Given the description of an element on the screen output the (x, y) to click on. 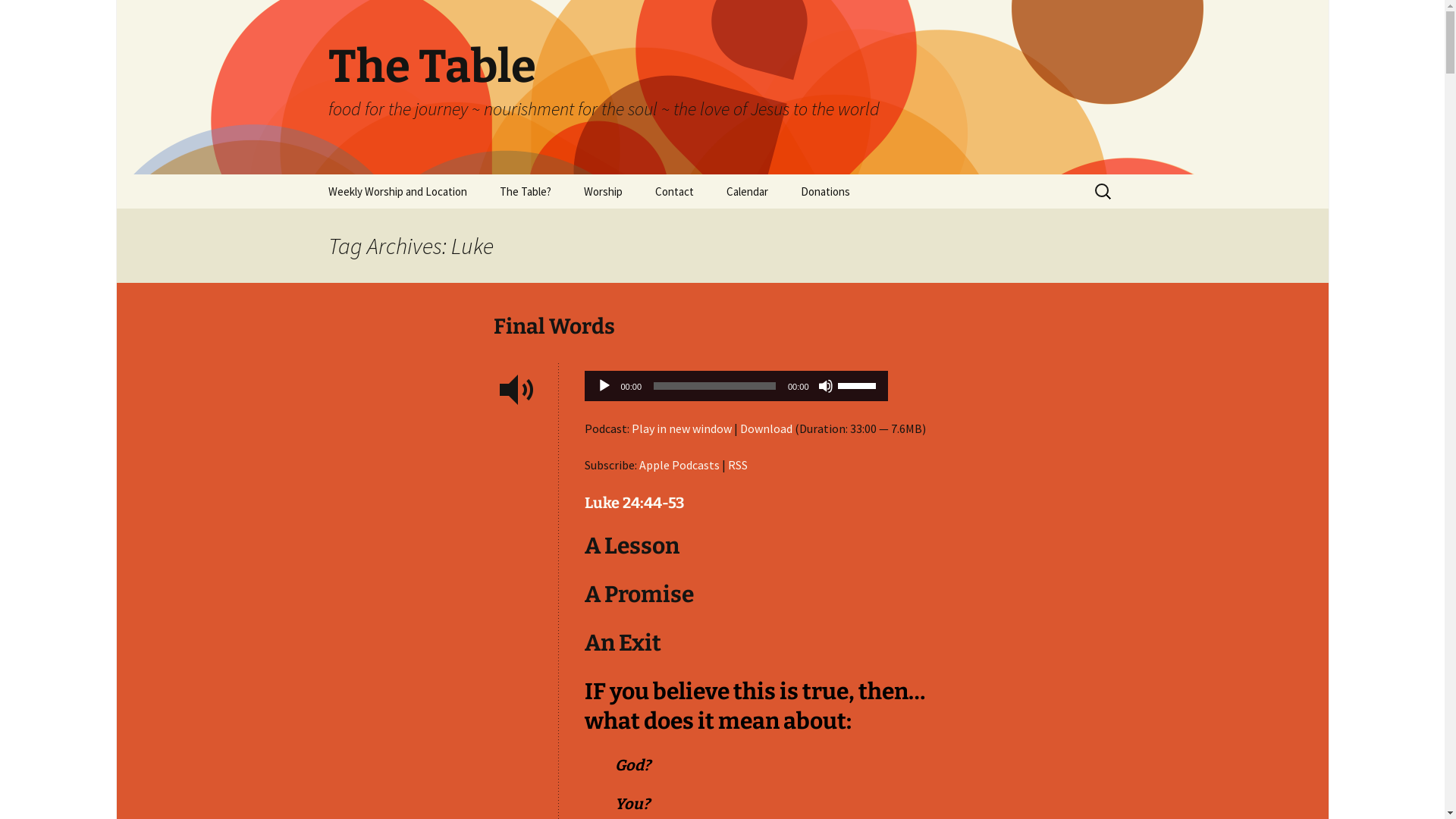
Sermons Element type: text (644, 225)
Donations Element type: text (825, 191)
RSS Element type: text (737, 464)
Apple Podcasts Element type: text (678, 464)
Worship Element type: text (602, 191)
Skip to content Element type: text (312, 173)
Search Element type: text (34, 15)
Play Element type: hover (603, 385)
Use Up/Down Arrow keys to increase or decrease volume. Element type: text (858, 384)
Final Words Element type: text (553, 325)
Pastor Greg Element type: text (715, 225)
Contact Element type: text (674, 191)
Weekly Worship and Location Element type: text (396, 191)
Mute Element type: hover (824, 385)
About Us Element type: text (559, 225)
Search Element type: text (18, 16)
The Table? Element type: text (524, 191)
Luke 24:44-53 Element type: text (633, 502)
Download Element type: text (766, 428)
Play in new window Element type: text (680, 428)
Calendar Element type: text (747, 191)
